Given the description of an element on the screen output the (x, y) to click on. 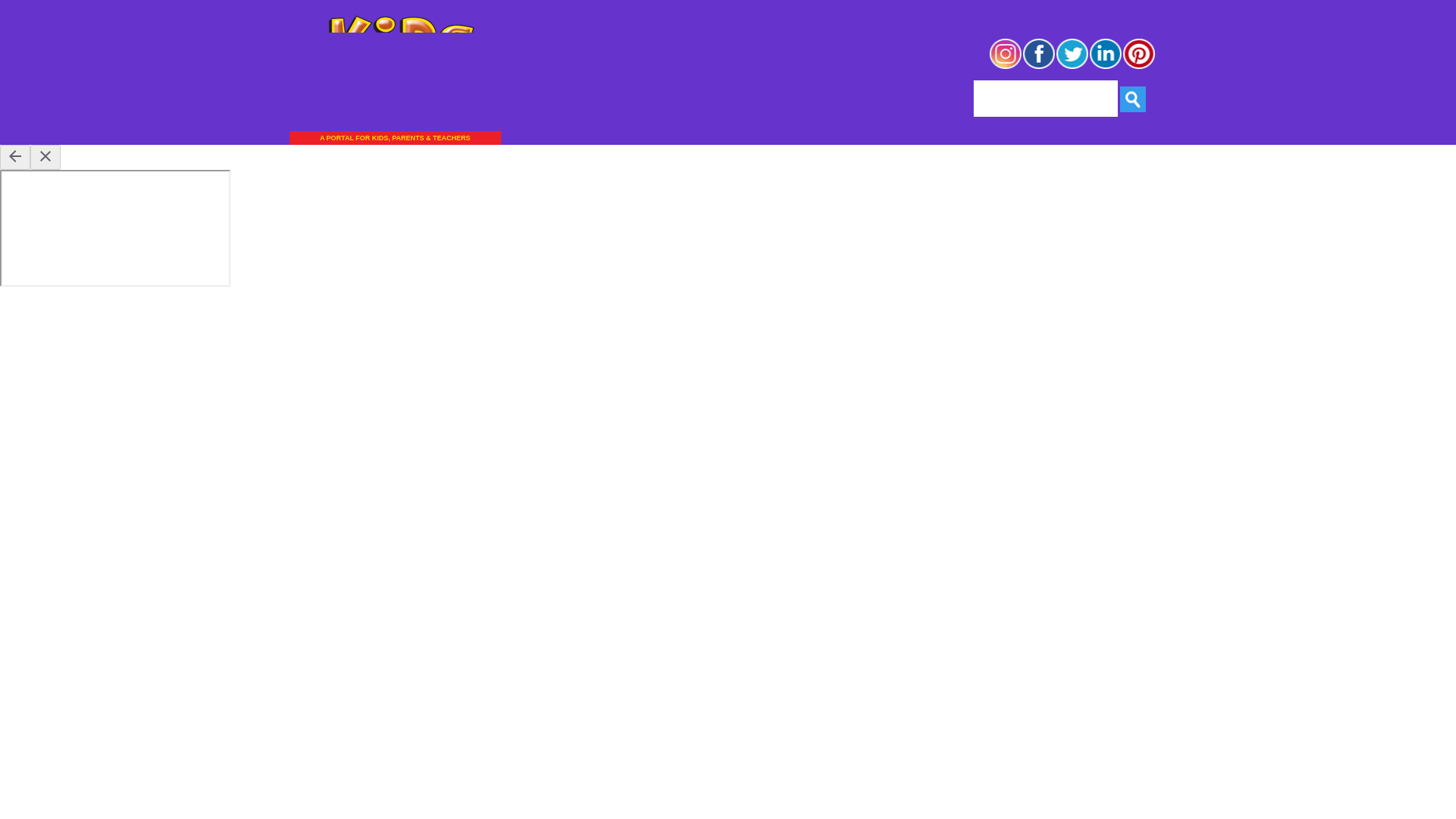
Follow Us On Facebook (1038, 66)
Search (1132, 99)
Follow Us On Twitter (1072, 66)
Search (1132, 99)
Follow Us On LinkedIn (1105, 66)
Follow Us On Instagram (1005, 66)
Follow Us On Pinterest (1139, 66)
